Given the description of an element on the screen output the (x, y) to click on. 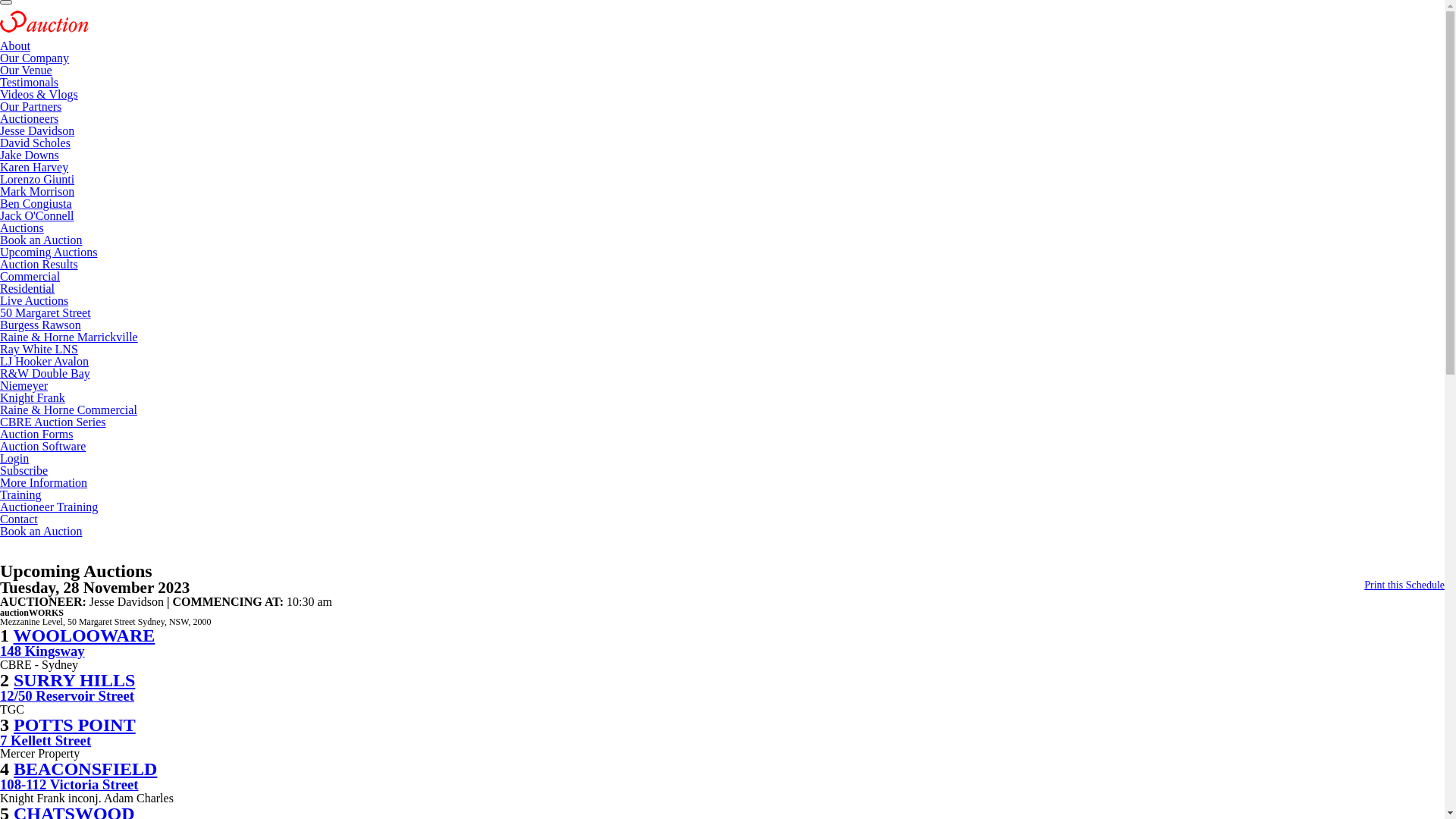
Auction Results Element type: text (39, 263)
Subscribe Element type: text (23, 470)
Videos & Vlogs Element type: text (39, 93)
WOOLOOWARE Element type: text (84, 635)
Auctioneer Training Element type: text (48, 506)
CBRE Auction Series Element type: text (53, 421)
Residential Element type: text (27, 288)
Lorenzo Giunti Element type: text (37, 178)
Contact Element type: text (18, 518)
Book an Auction Element type: text (40, 239)
Our Company Element type: text (34, 57)
Training Element type: text (20, 494)
Knight Frank Element type: text (32, 397)
Upcoming Auctions Element type: text (48, 251)
Jake Downs Element type: text (29, 154)
Login Element type: text (14, 457)
SURRY HILLS Element type: text (73, 680)
Commercial Element type: text (29, 275)
Burgess Rawson Element type: text (40, 324)
Our Partners Element type: text (30, 106)
Live Auctions Element type: text (34, 300)
Niemeyer Element type: text (23, 385)
Auction Software Element type: text (42, 445)
Auctioneers Element type: text (29, 118)
David Scholes Element type: text (35, 142)
Raine & Horne Marrickville Element type: text (69, 336)
50 Margaret Street Element type: text (45, 312)
Ben Congiusta Element type: text (36, 203)
About Element type: text (15, 45)
Testimonals Element type: text (29, 81)
108-112 Victoria Street Element type: text (69, 784)
Our Venue Element type: text (26, 69)
R&W Double Bay Element type: text (45, 373)
148 Kingsway Element type: text (42, 650)
Karen Harvey Element type: text (34, 166)
BEACONSFIELD Element type: text (84, 768)
Raine & Horne Commercial Element type: text (68, 409)
12/50 Reservoir Street Element type: text (67, 695)
Print this Schedule Element type: text (1404, 584)
Auctions Element type: text (21, 227)
7 Kellett Street Element type: text (45, 740)
Book an Auction Element type: text (40, 530)
Jesse Davidson Element type: text (37, 130)
POTTS POINT Element type: text (74, 724)
LJ Hooker Avalon Element type: text (44, 360)
Ray White LNS Element type: text (39, 348)
Auction Forms Element type: text (36, 433)
Jack O'Connell Element type: text (37, 215)
Mark Morrison Element type: text (37, 191)
More Information Element type: text (43, 482)
